Given the description of an element on the screen output the (x, y) to click on. 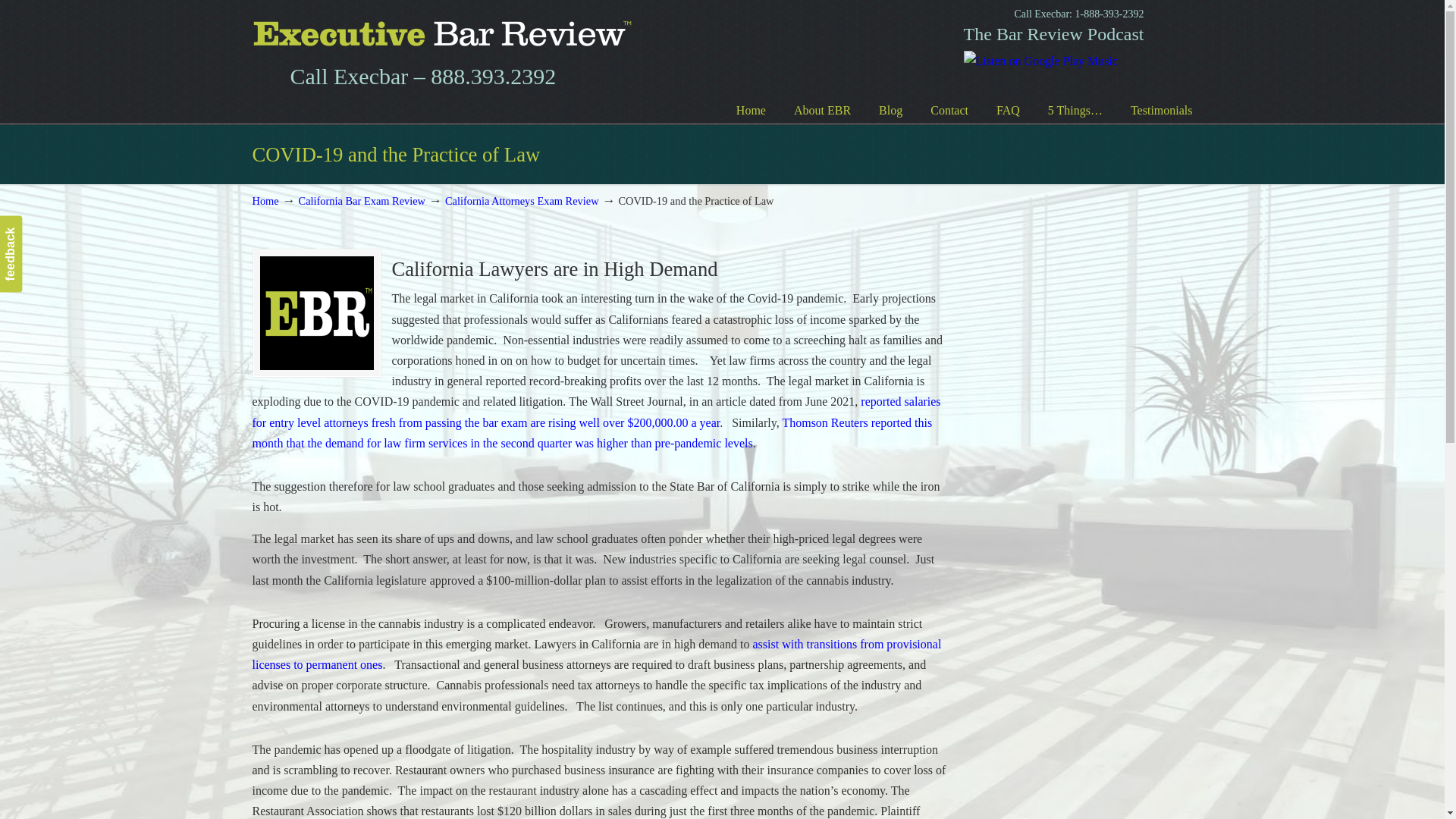
Home (264, 200)
FAQ (1008, 110)
California Attorneys Exam Review (521, 200)
About EBR (822, 110)
Home (750, 110)
Contact (949, 110)
COVID-19 and the Practice of Law (315, 313)
Blog (890, 110)
